Given the description of an element on the screen output the (x, y) to click on. 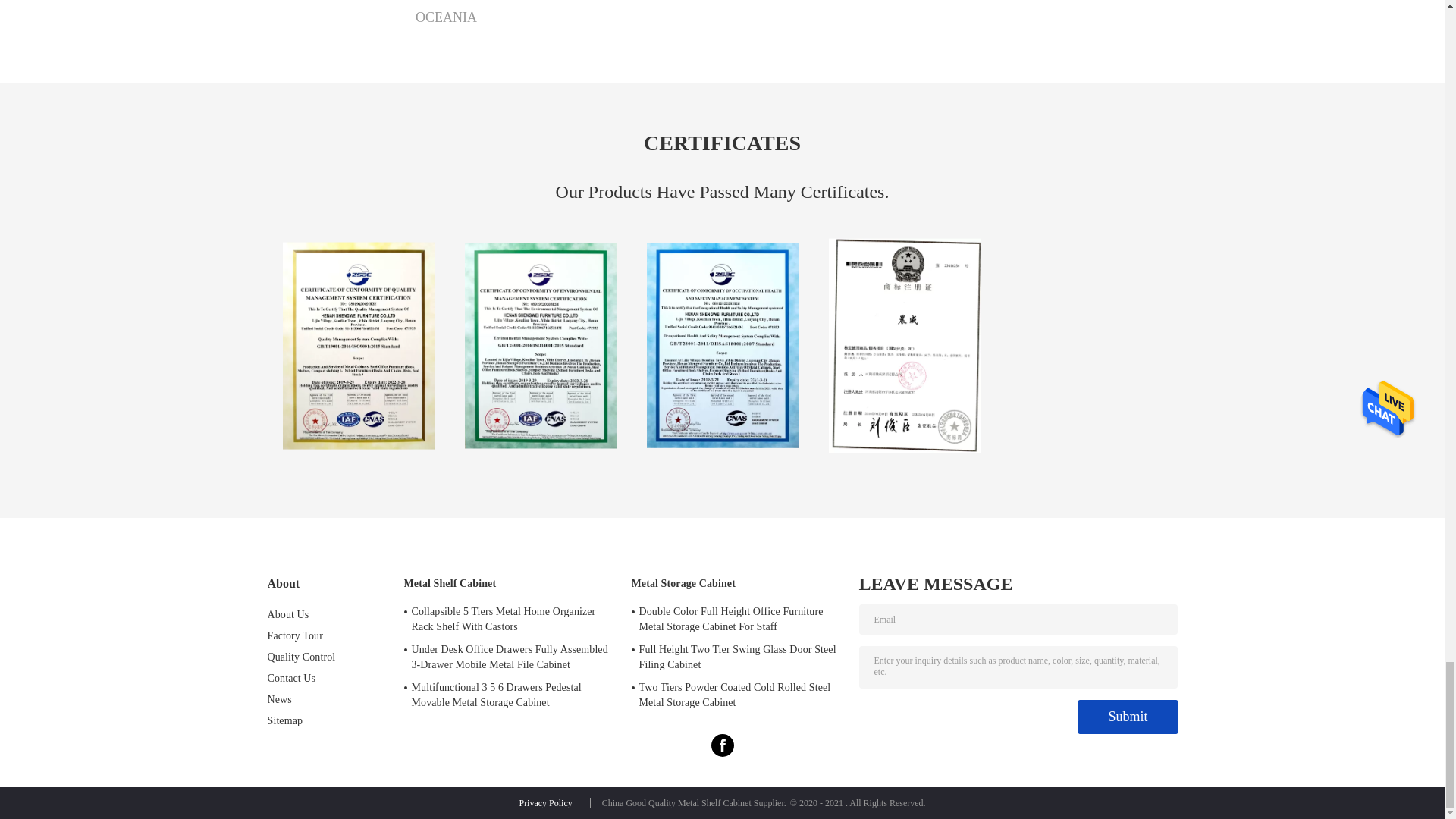
Submit (1127, 716)
